Given the description of an element on the screen output the (x, y) to click on. 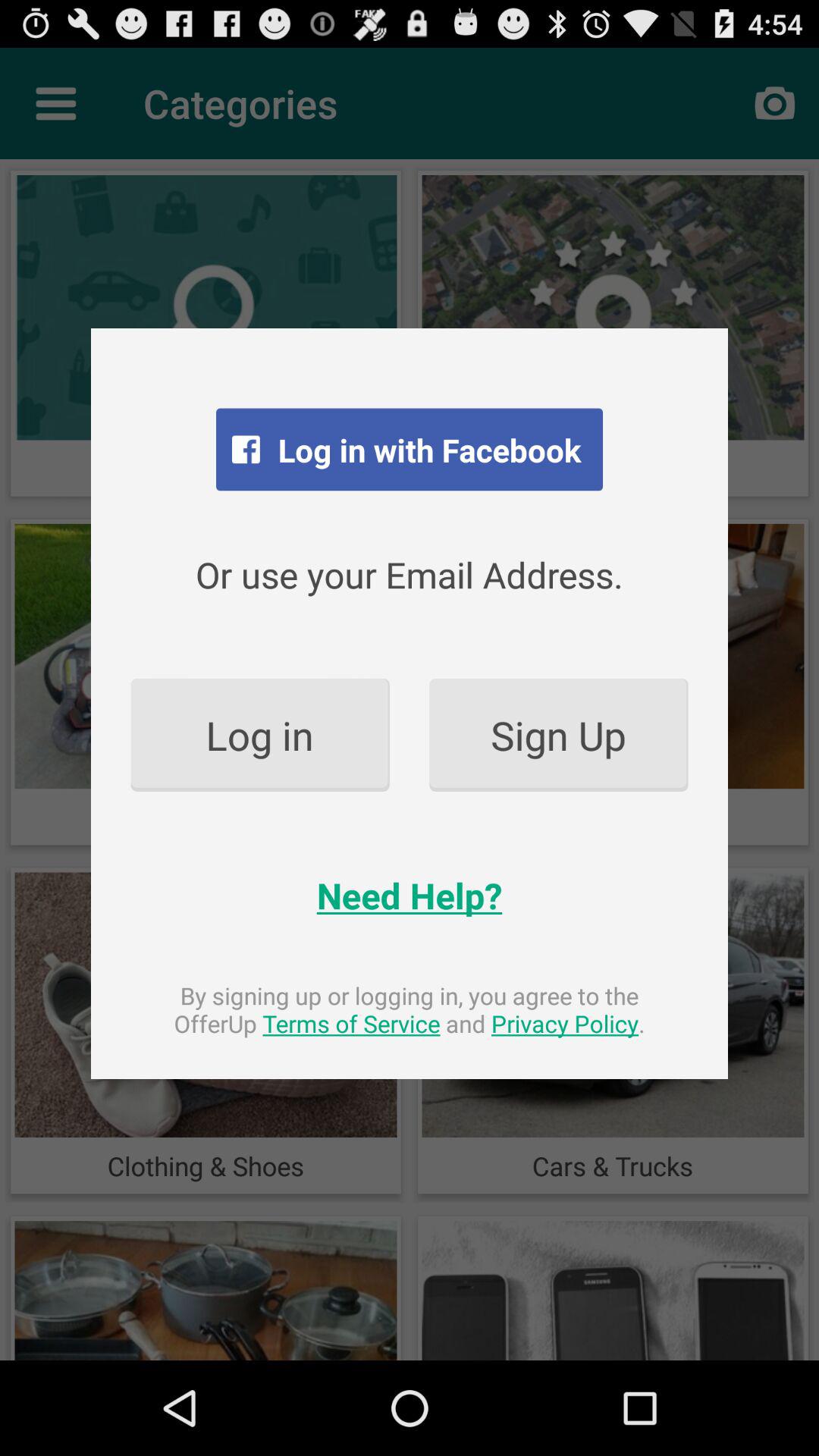
press the icon below log in item (409, 895)
